Given the description of an element on the screen output the (x, y) to click on. 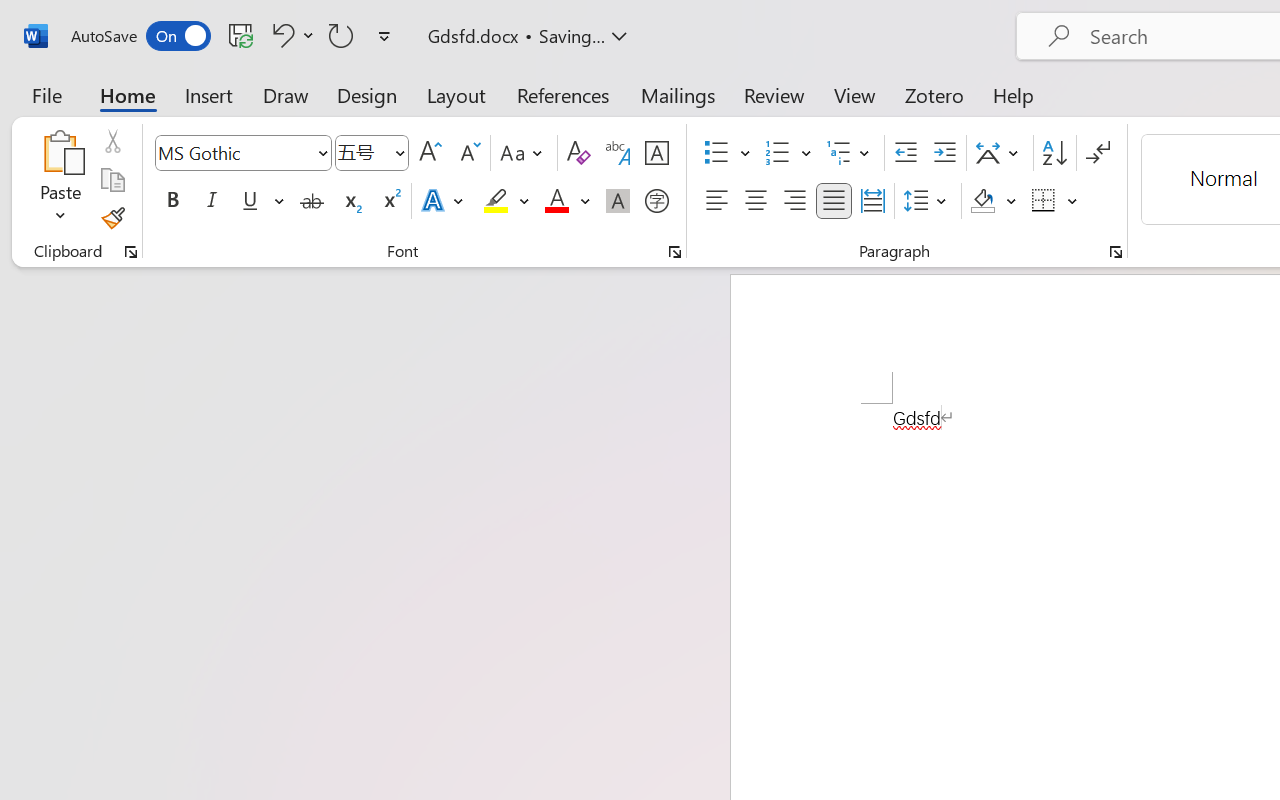
Format Painter (112, 218)
Align Right (794, 201)
Phonetic Guide... (618, 153)
Text Highlight Color Yellow (495, 201)
Shrink Font (468, 153)
Text Effects and Typography (444, 201)
